Given the description of an element on the screen output the (x, y) to click on. 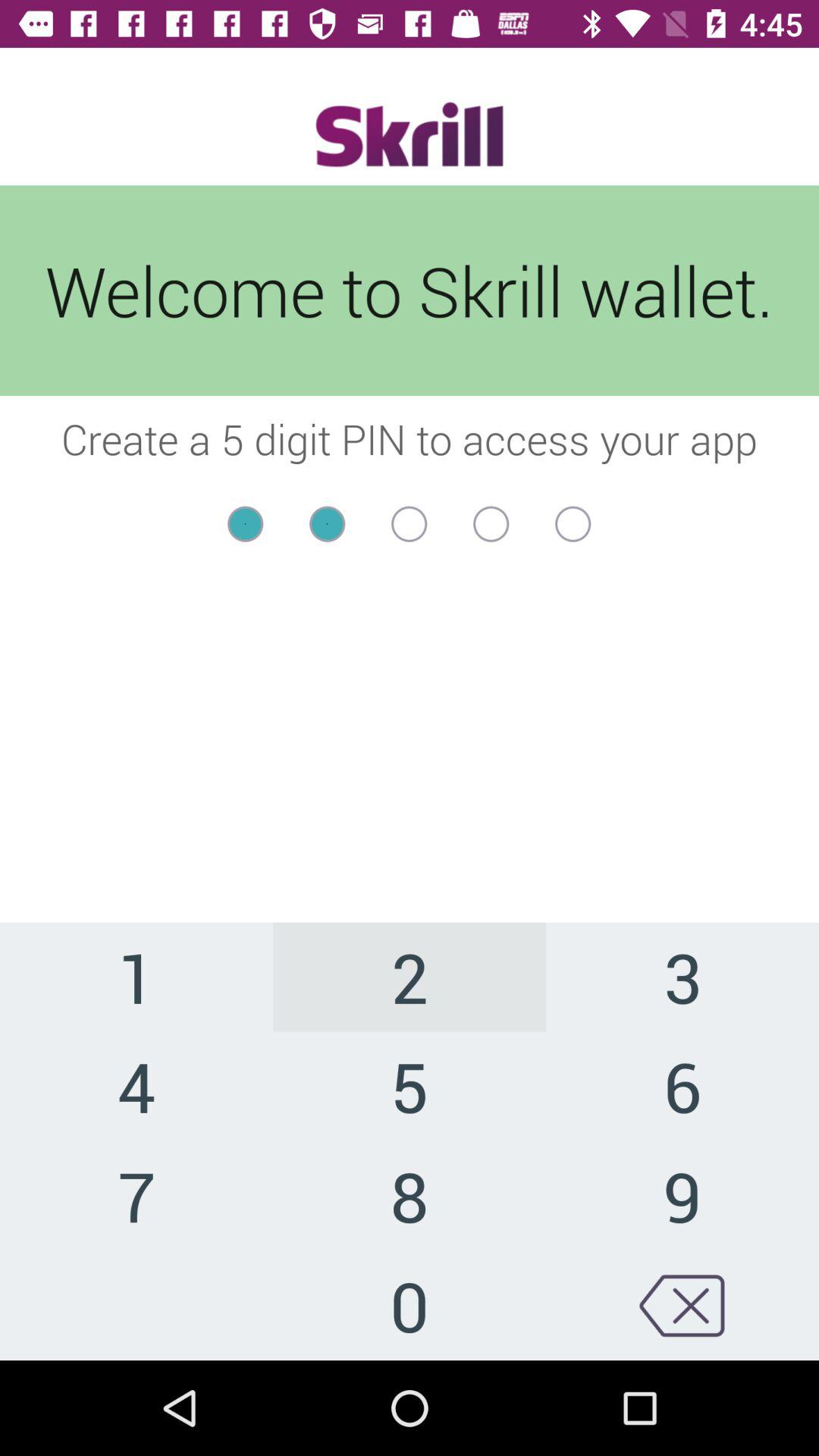
turn off the icon below 4 item (136, 1195)
